Given the description of an element on the screen output the (x, y) to click on. 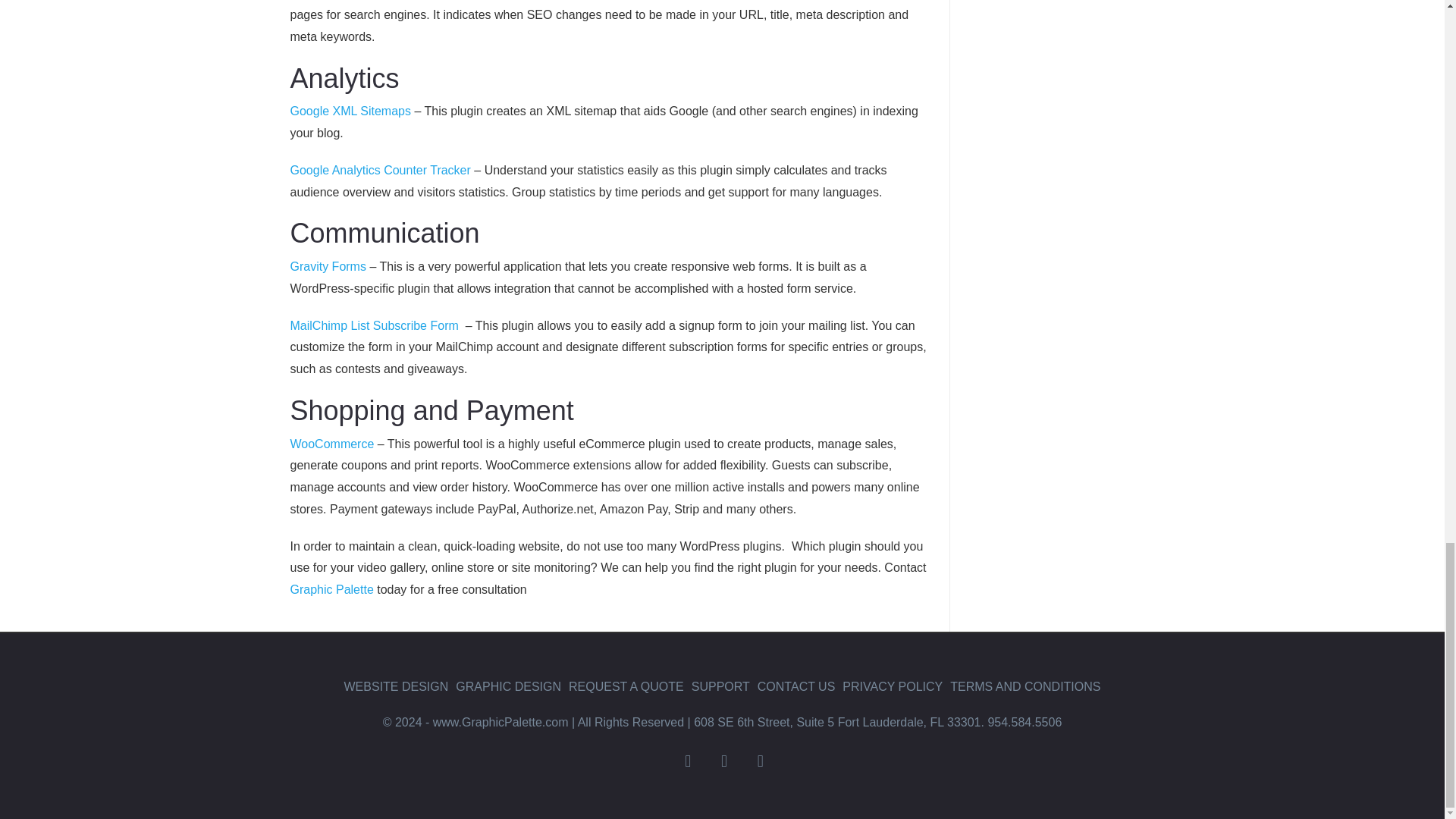
WooCommerce (331, 443)
Google Analytics Counter Tracker (379, 169)
Gravity Forms (327, 266)
Google XML Sitemaps (349, 110)
MailChimp List Subscribe Form  (375, 325)
Follow us on Twitter (724, 761)
Graphic Palette (330, 589)
Like Our Facebook Page (687, 761)
